Given the description of an element on the screen output the (x, y) to click on. 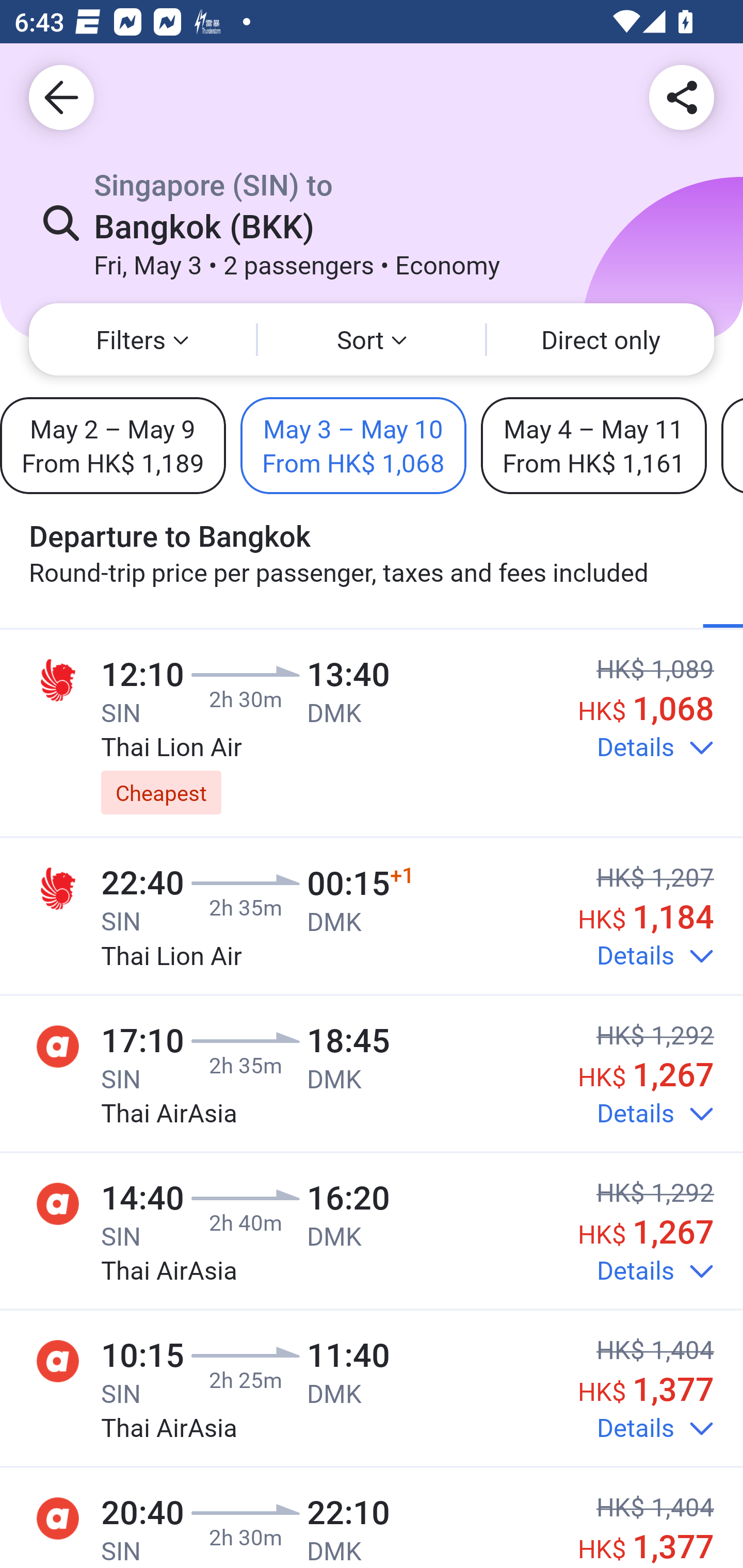
Filters (141, 339)
Sort (371, 339)
Direct only (600, 339)
May 2 – May 9 From HK$ 1,189 (112, 444)
May 3 – May 10 From HK$ 1,068 (353, 444)
May 4 – May 11 From HK$ 1,161 (593, 444)
